Given the description of an element on the screen output the (x, y) to click on. 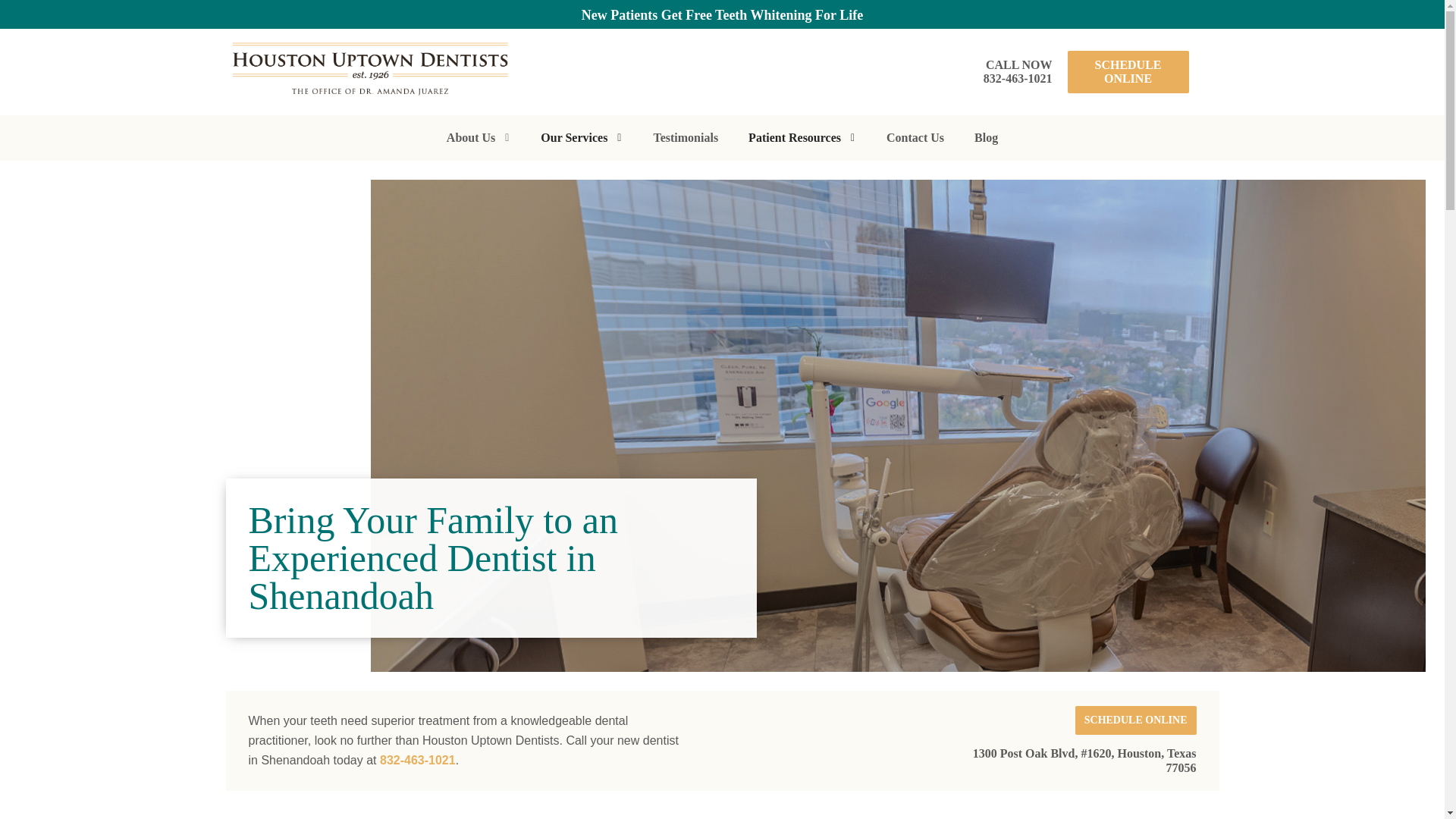
SCHEDULE ONLINE (1128, 71)
New Patients Get Free Teeth Whitening For Life (721, 14)
About Us (477, 137)
